Given the description of an element on the screen output the (x, y) to click on. 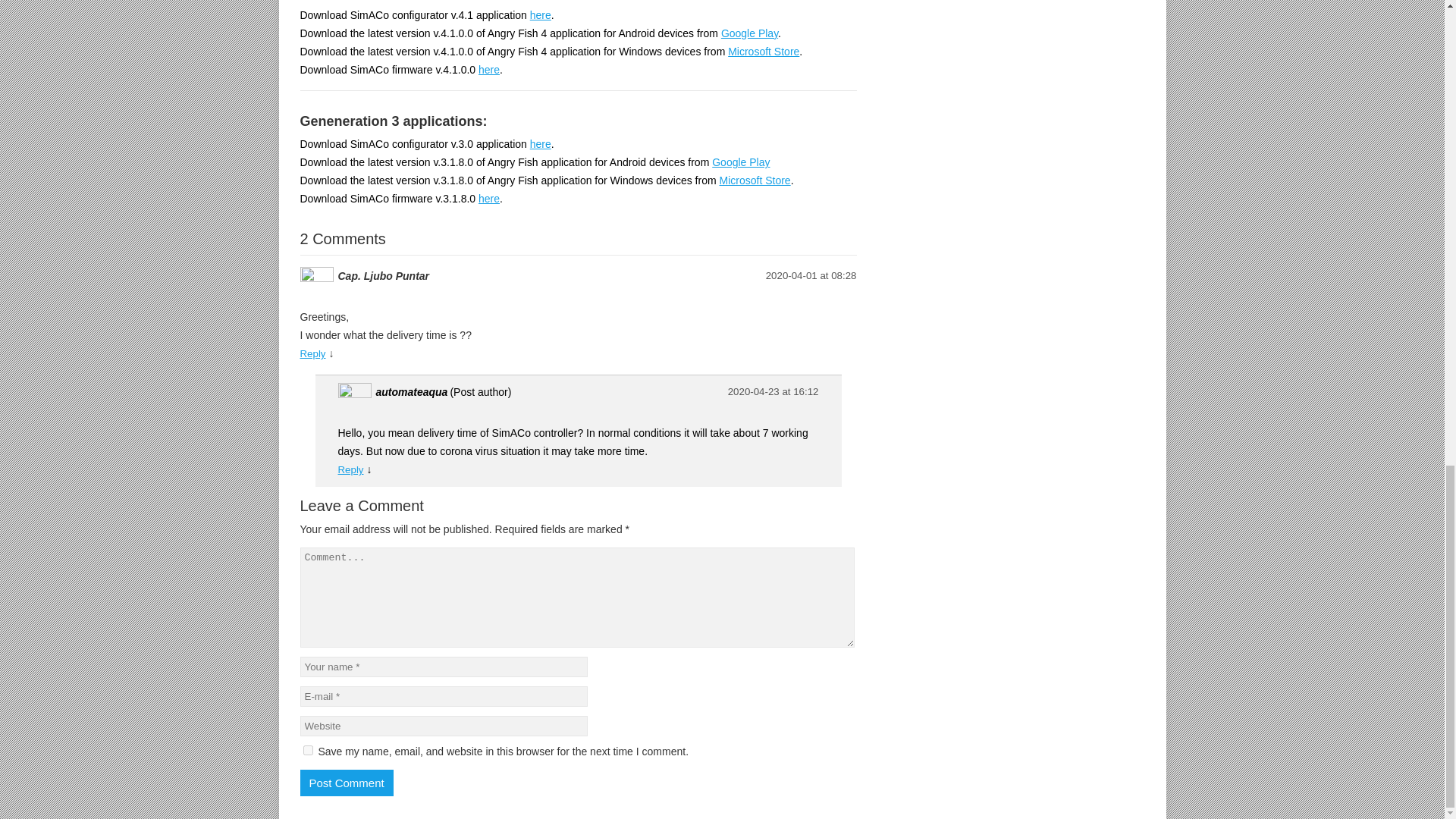
Post Comment (346, 782)
yes (307, 750)
